Given the description of an element on the screen output the (x, y) to click on. 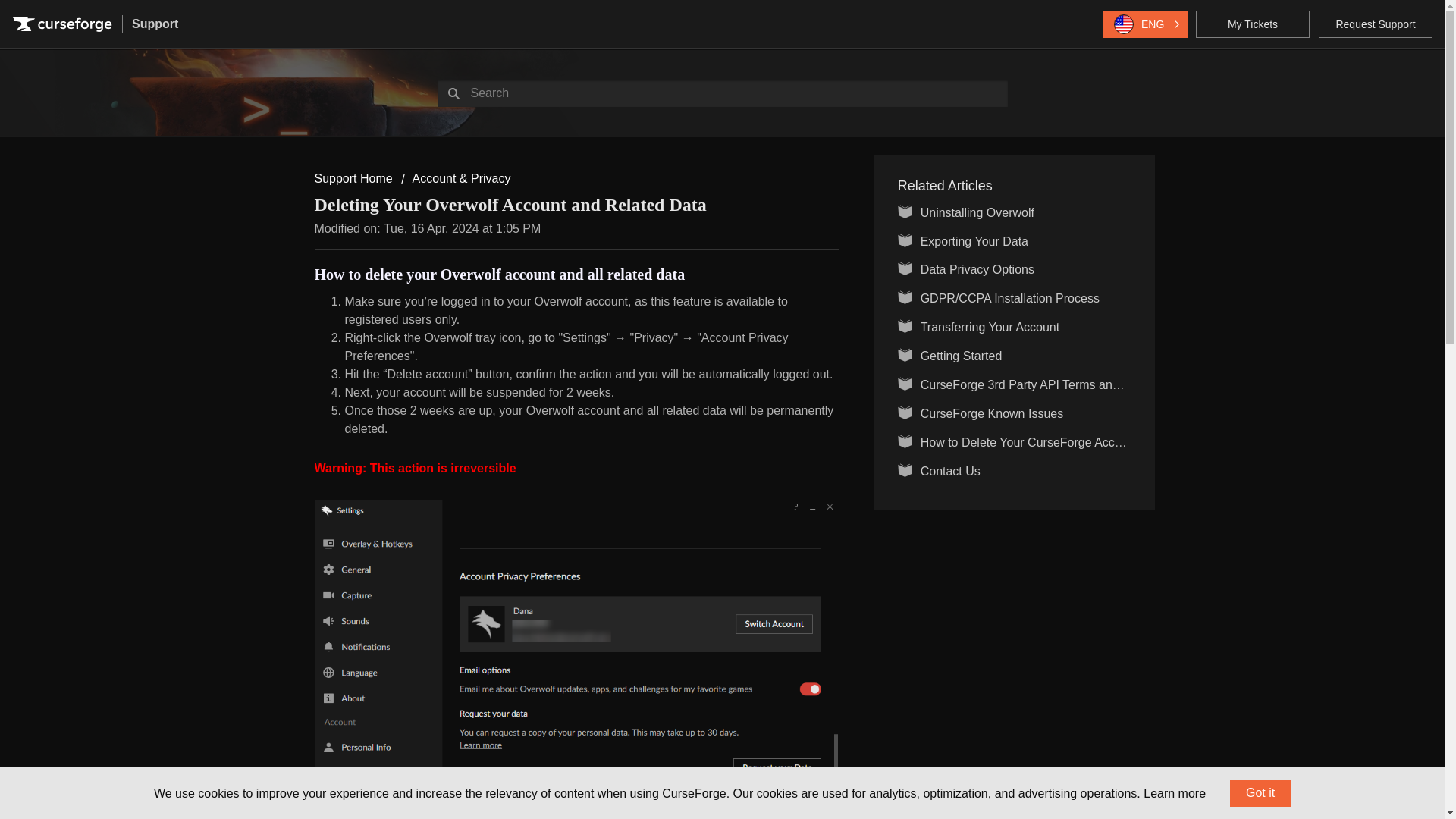
Transferring Your Account (989, 327)
Getting Started (961, 355)
Support Home (352, 178)
Request Support (1375, 23)
CurseForge Known Issues (992, 413)
Data Privacy Options (976, 269)
My Tickets (1251, 23)
Uninstalling Overwolf (976, 212)
CurseForge 3rd Party API Terms and Conditions (1049, 384)
Exporting Your Data (973, 241)
How to Delete Your CurseForge Account (1029, 441)
Contact Us (949, 471)
Support (154, 24)
